Given the description of an element on the screen output the (x, y) to click on. 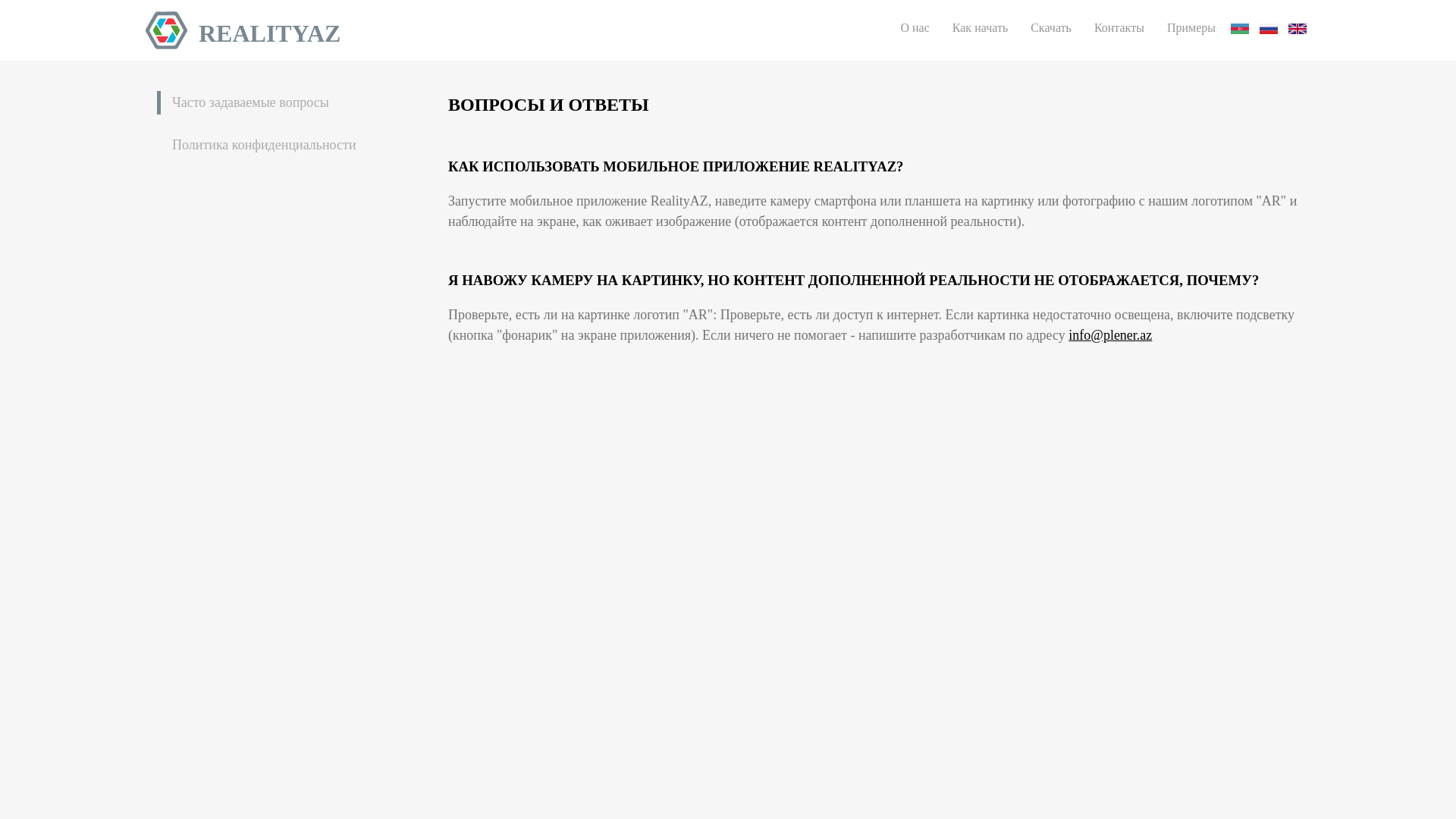
info@plener.az Element type: text (1109, 334)
English (UK) Element type: hover (1297, 28)
REALITYAZ Element type: text (242, 29)
